Given the description of an element on the screen output the (x, y) to click on. 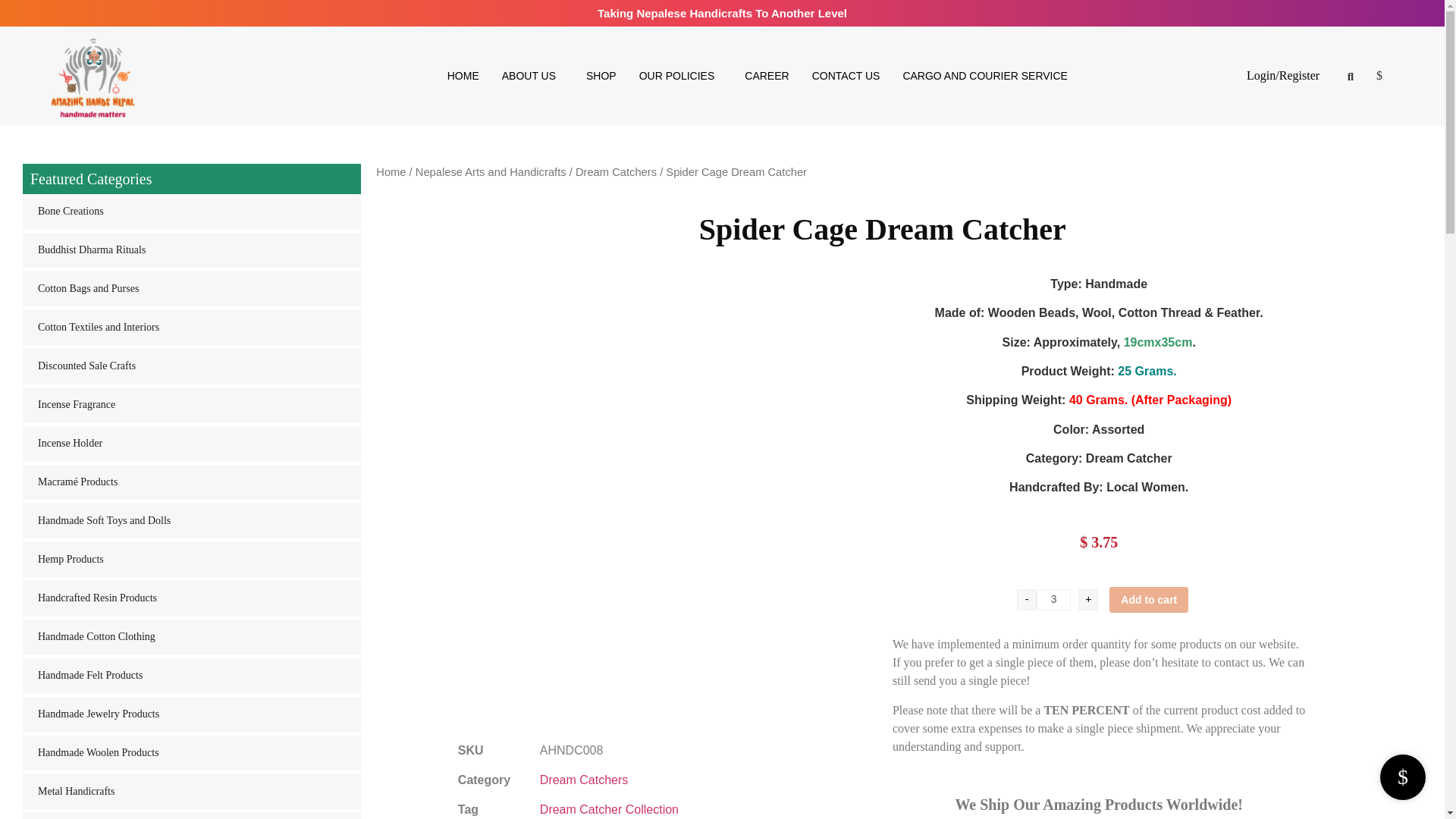
CONTACT US (845, 75)
ABOUT US (532, 75)
Qty (1053, 599)
CARGO AND COURIER SERVICE (984, 75)
OUR POLICIES (680, 75)
CAREER (766, 75)
3 (1053, 599)
HOME (462, 75)
SHOP (601, 75)
